Given the description of an element on the screen output the (x, y) to click on. 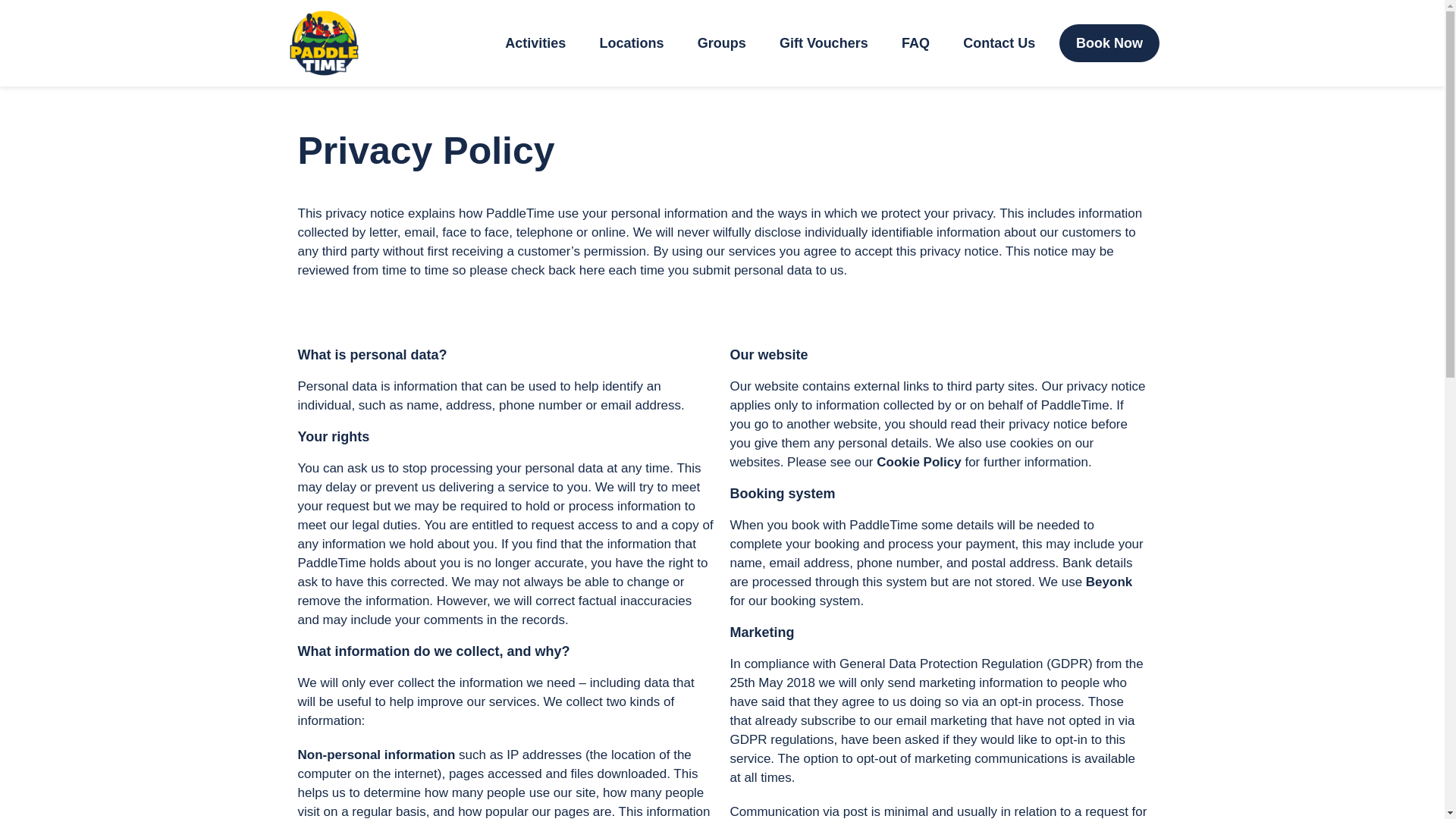
Locations (630, 43)
Groups (721, 43)
Contact Us (998, 43)
Cookie Policy (918, 462)
Beyonk (1109, 581)
Gift Vouchers (823, 43)
Activities (534, 43)
FAQ (915, 43)
Book Now (1108, 43)
